Given the description of an element on the screen output the (x, y) to click on. 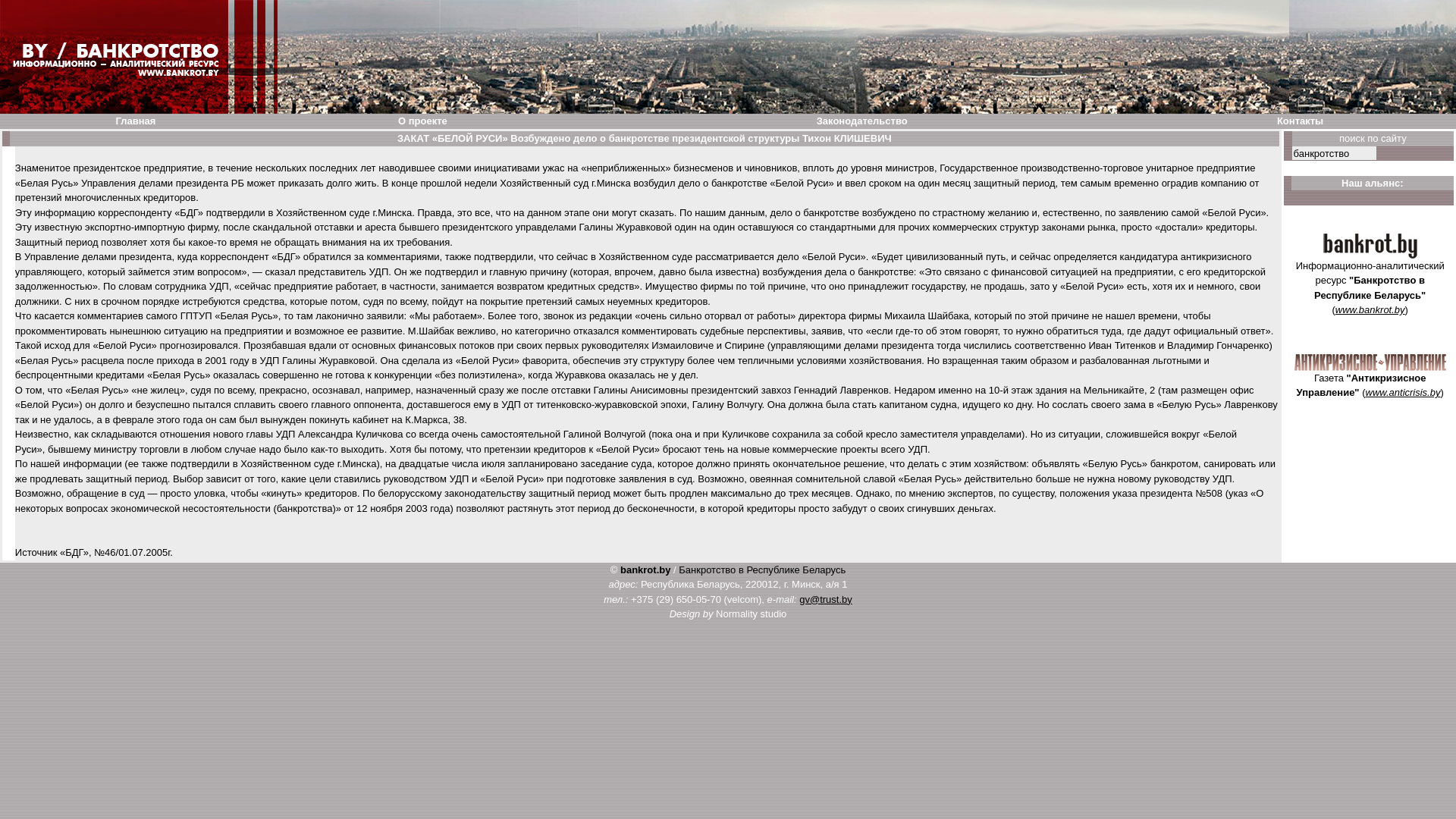
bankrot.by Element type: text (645, 569)
www.bankrot.by Element type: text (1370, 309)
www.anticrisis.by Element type: text (1402, 392)
gv@trust.by Element type: text (825, 598)
